Given the description of an element on the screen output the (x, y) to click on. 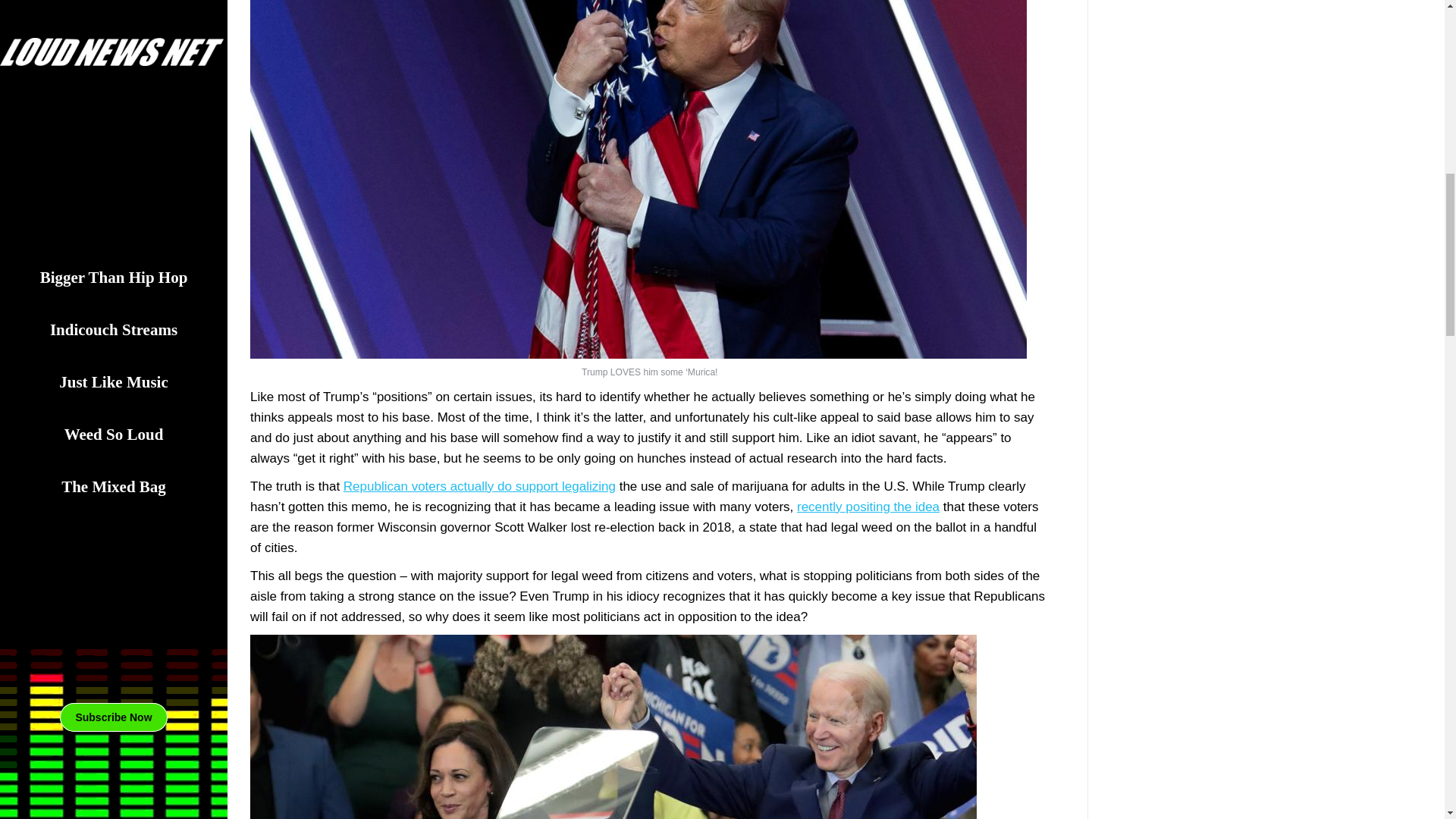
recently positing the idea (867, 505)
Republican voters actually do support legalizing (479, 486)
